Given the description of an element on the screen output the (x, y) to click on. 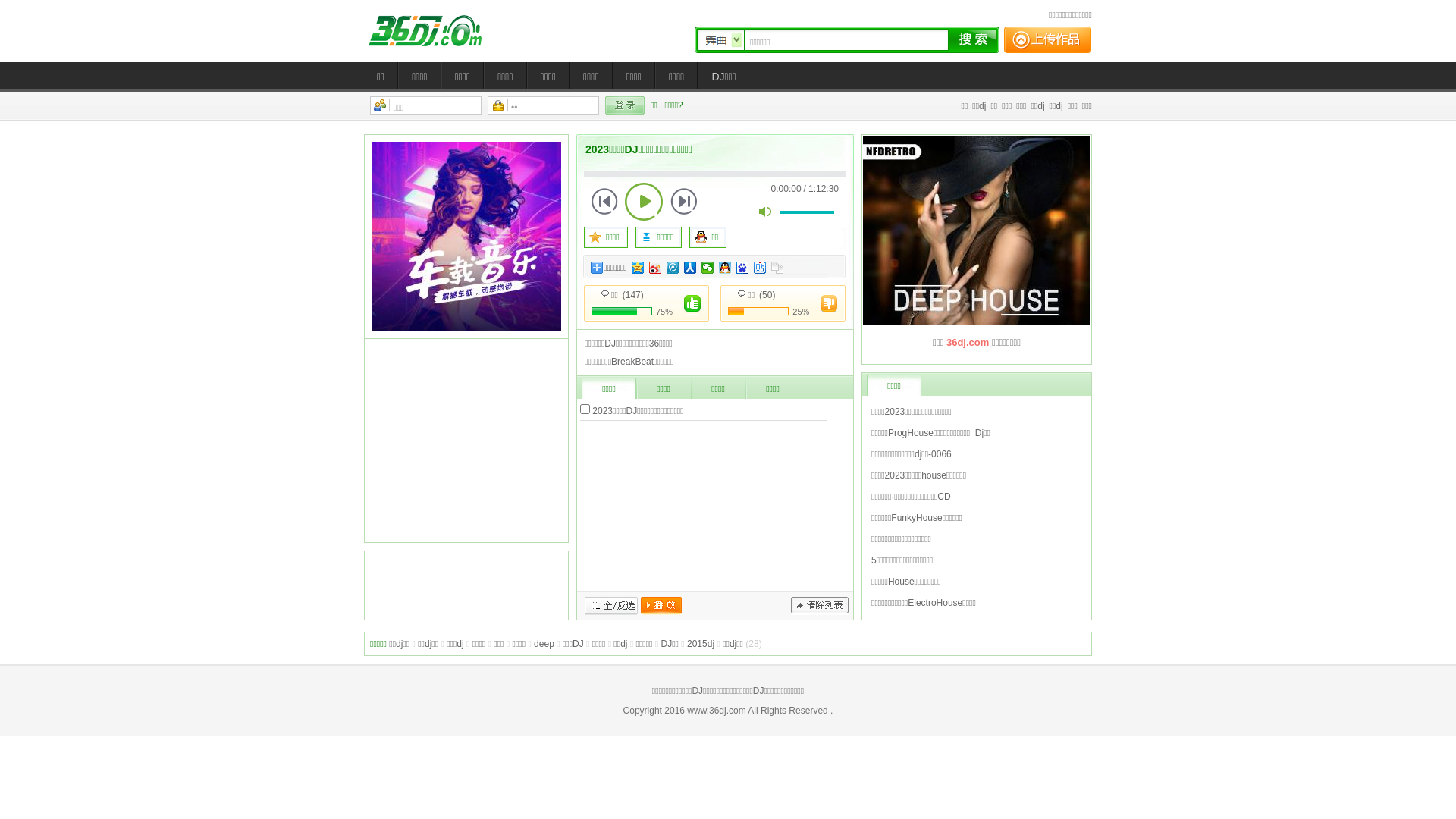
2015dj Element type: text (700, 643)
deep Element type: text (543, 643)
DJ Element type: text (436, 30)
